Given the description of an element on the screen output the (x, y) to click on. 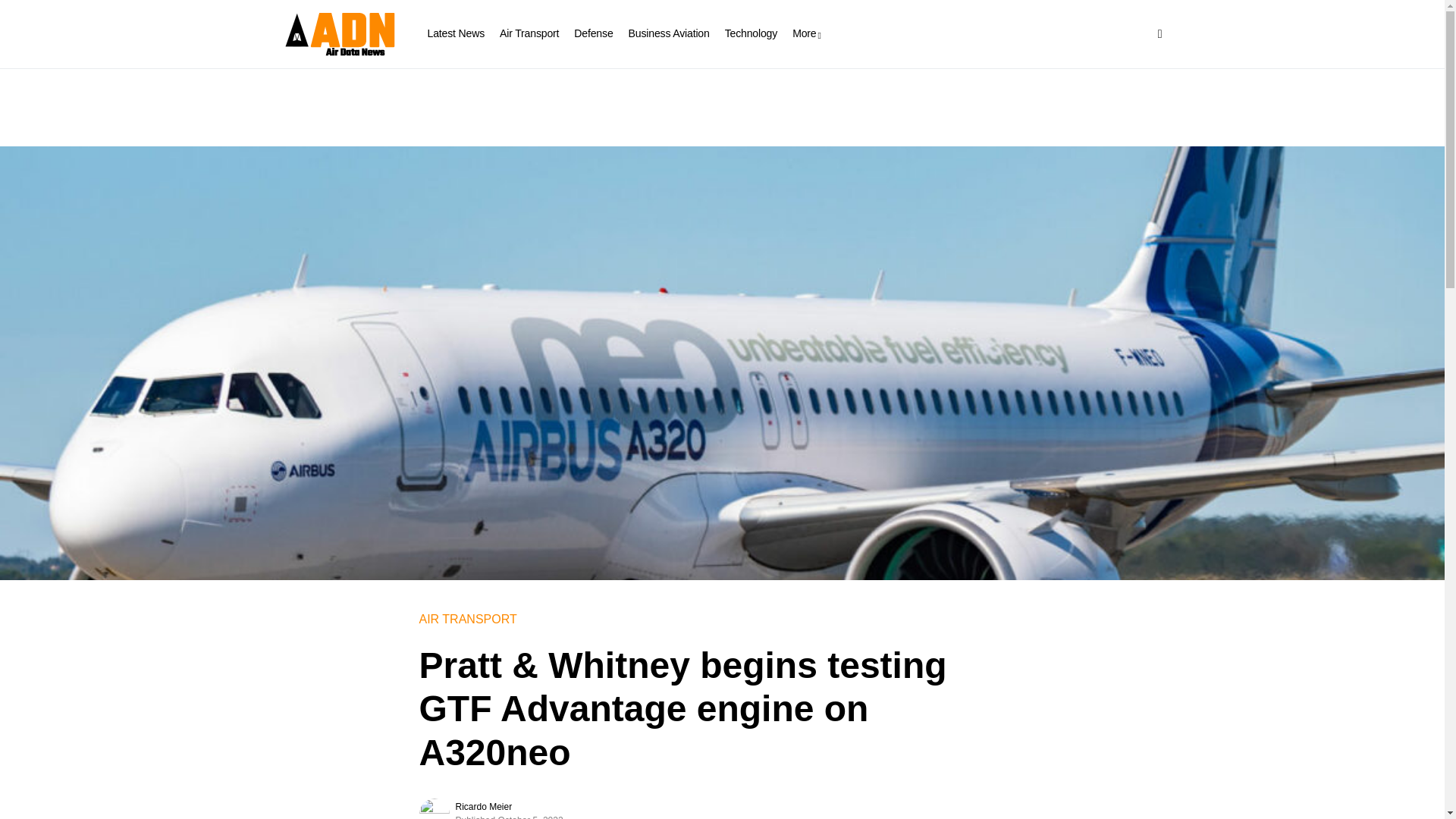
Ricardo Meier (483, 807)
Business Aviation (669, 33)
AIR TRANSPORT (467, 618)
